Given the description of an element on the screen output the (x, y) to click on. 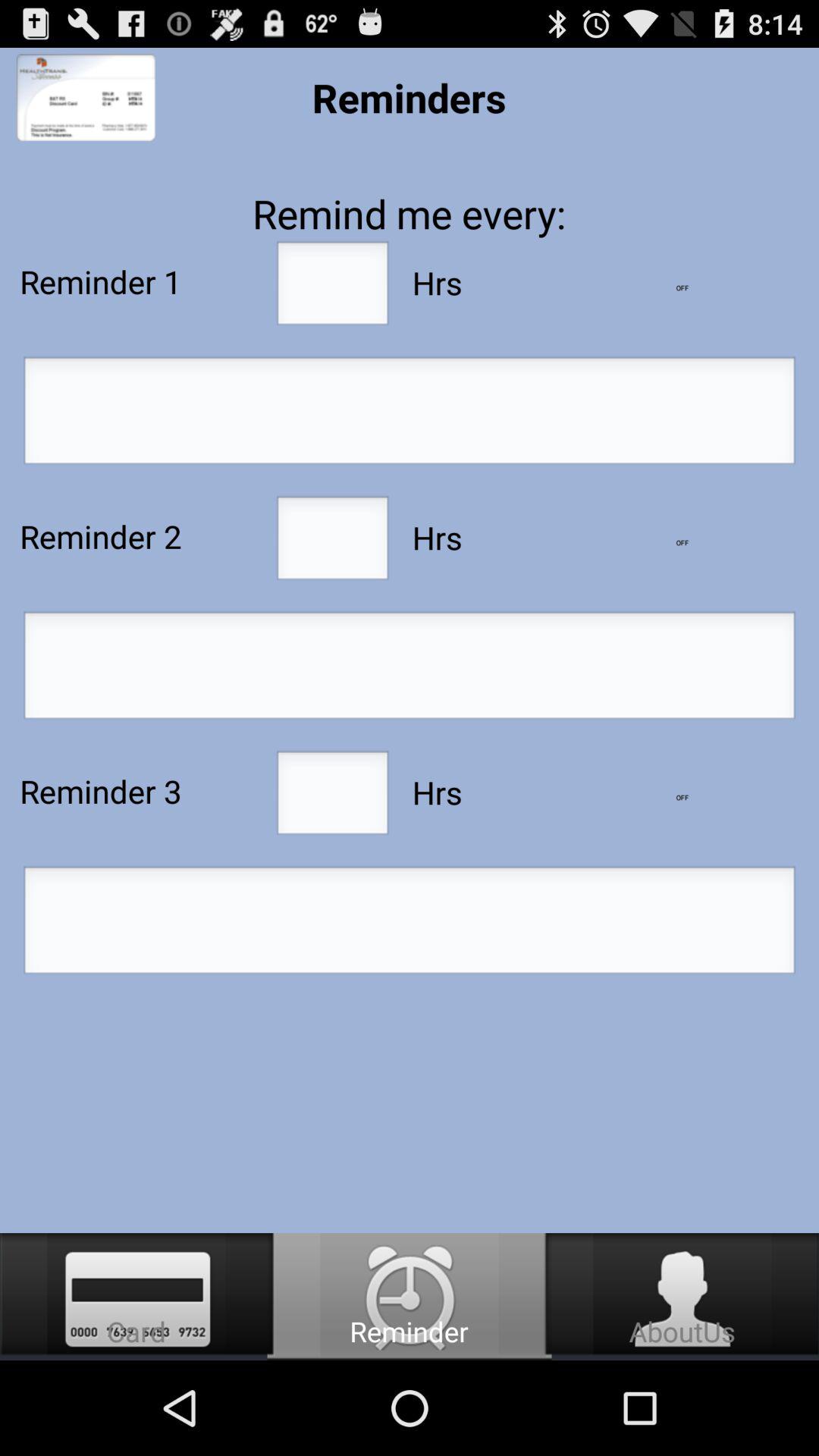
lower number of hours (682, 797)
